Given the description of an element on the screen output the (x, y) to click on. 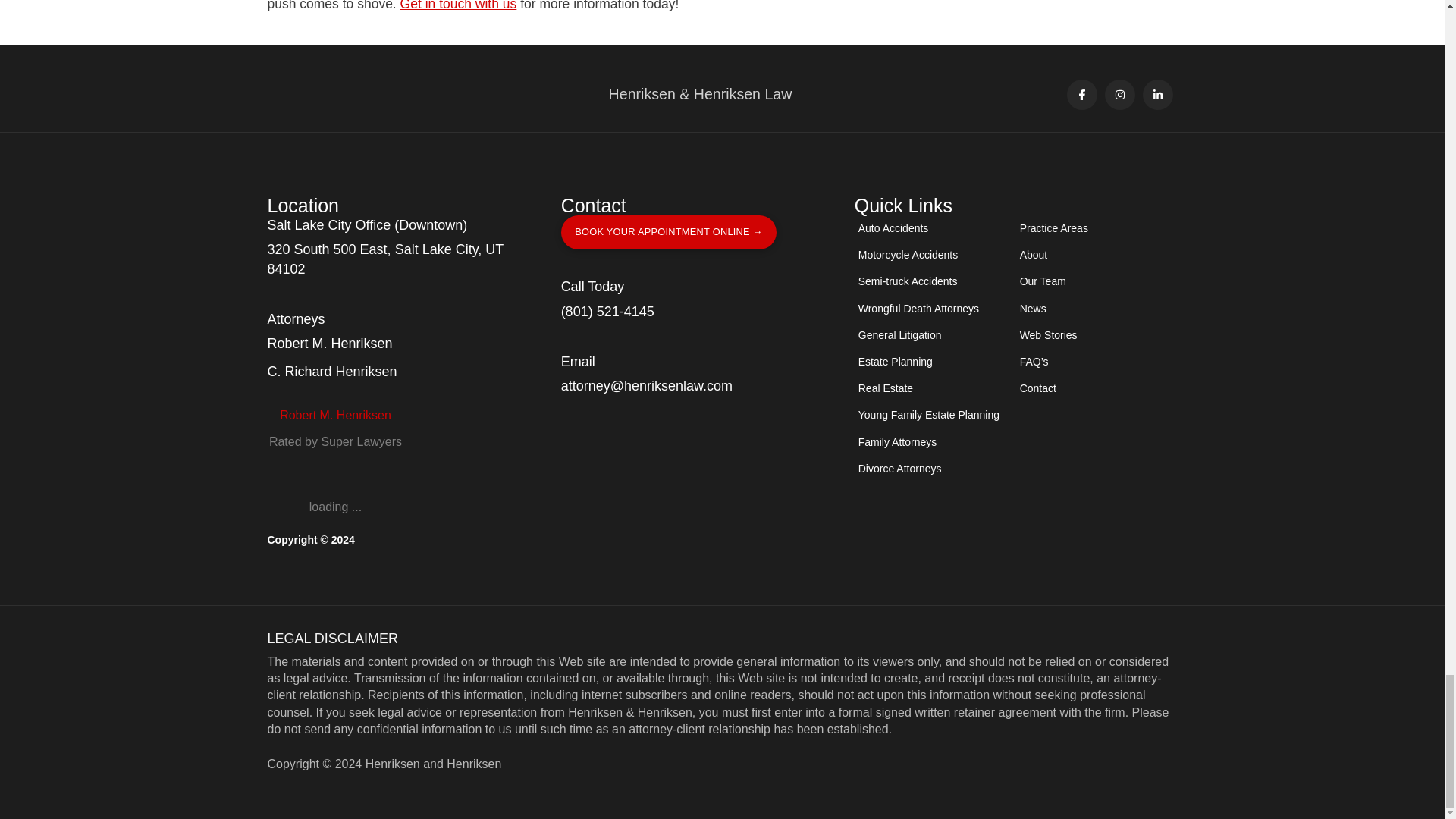
Get in touch with us (458, 5)
